Given the description of an element on the screen output the (x, y) to click on. 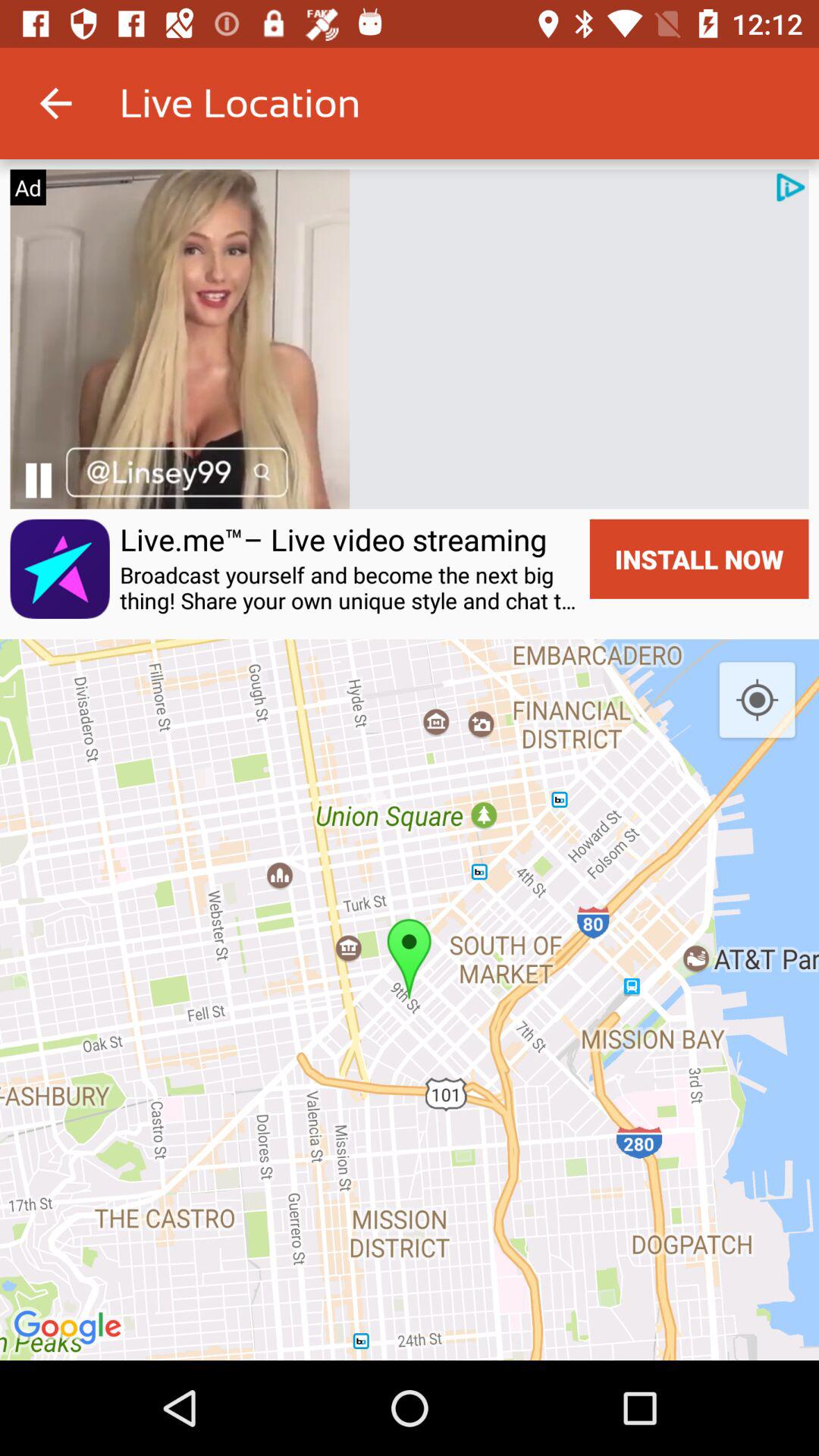
turn off icon next to live me live (38, 480)
